Given the description of an element on the screen output the (x, y) to click on. 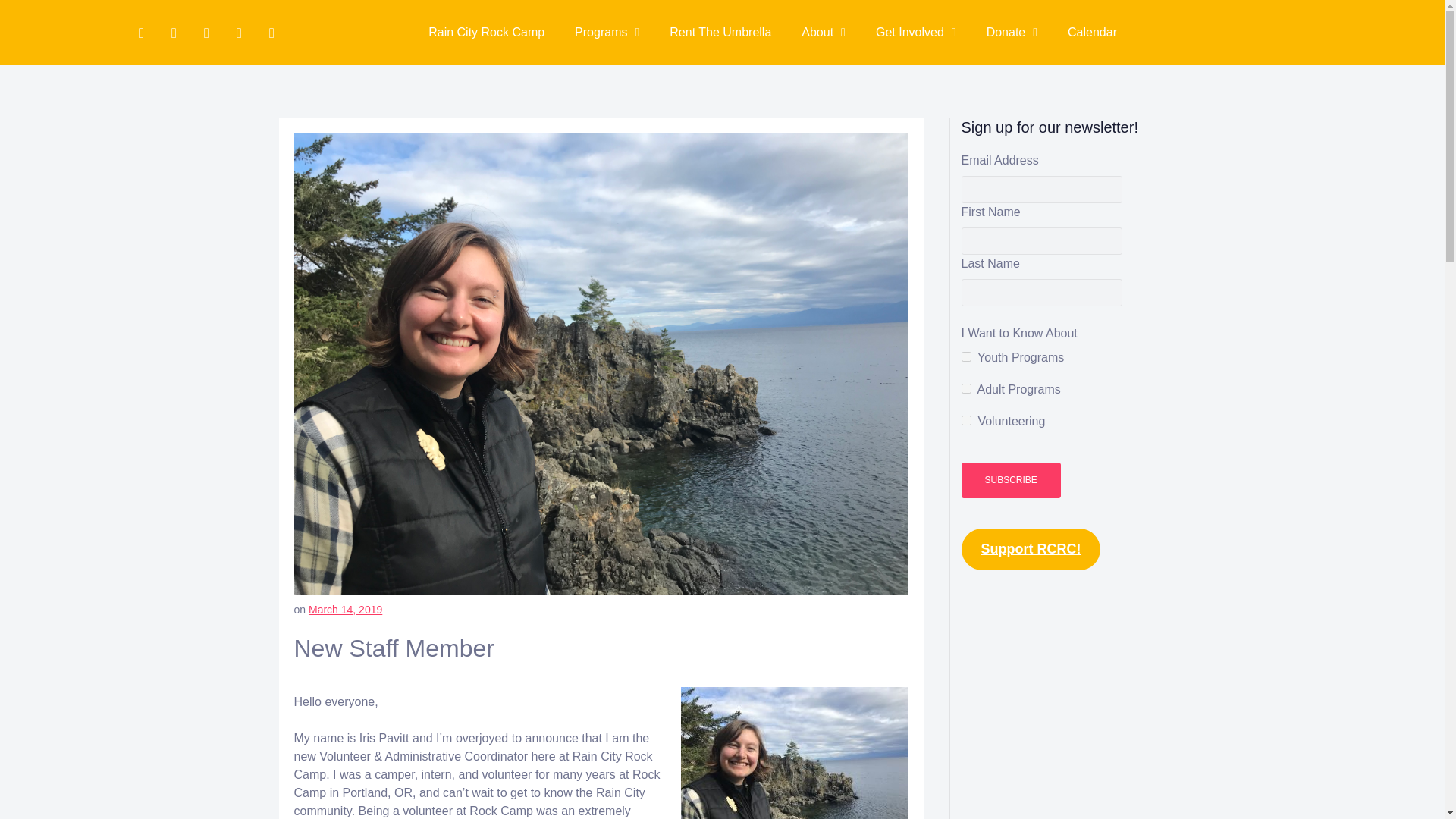
134217728 (965, 356)
Programs (606, 32)
Donate (1011, 32)
Calendar (1092, 32)
Get Involved (915, 32)
268435456 (965, 388)
Rain City Rock Camp (486, 32)
About (823, 32)
Subscribe (1010, 479)
536870912 (965, 420)
Rent The Umbrella (719, 32)
